Given the description of an element on the screen output the (x, y) to click on. 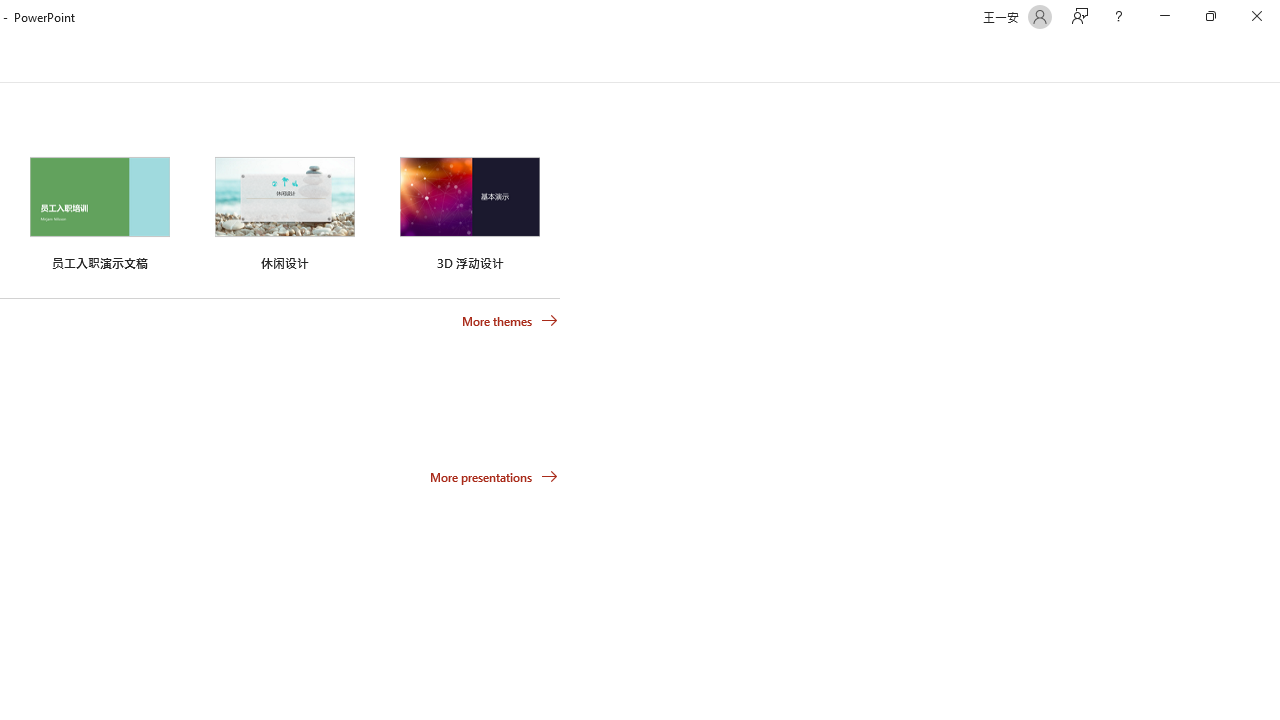
Class: NetUIScrollBar (1271, 59)
More themes (509, 321)
More presentations (493, 476)
